Given the description of an element on the screen output the (x, y) to click on. 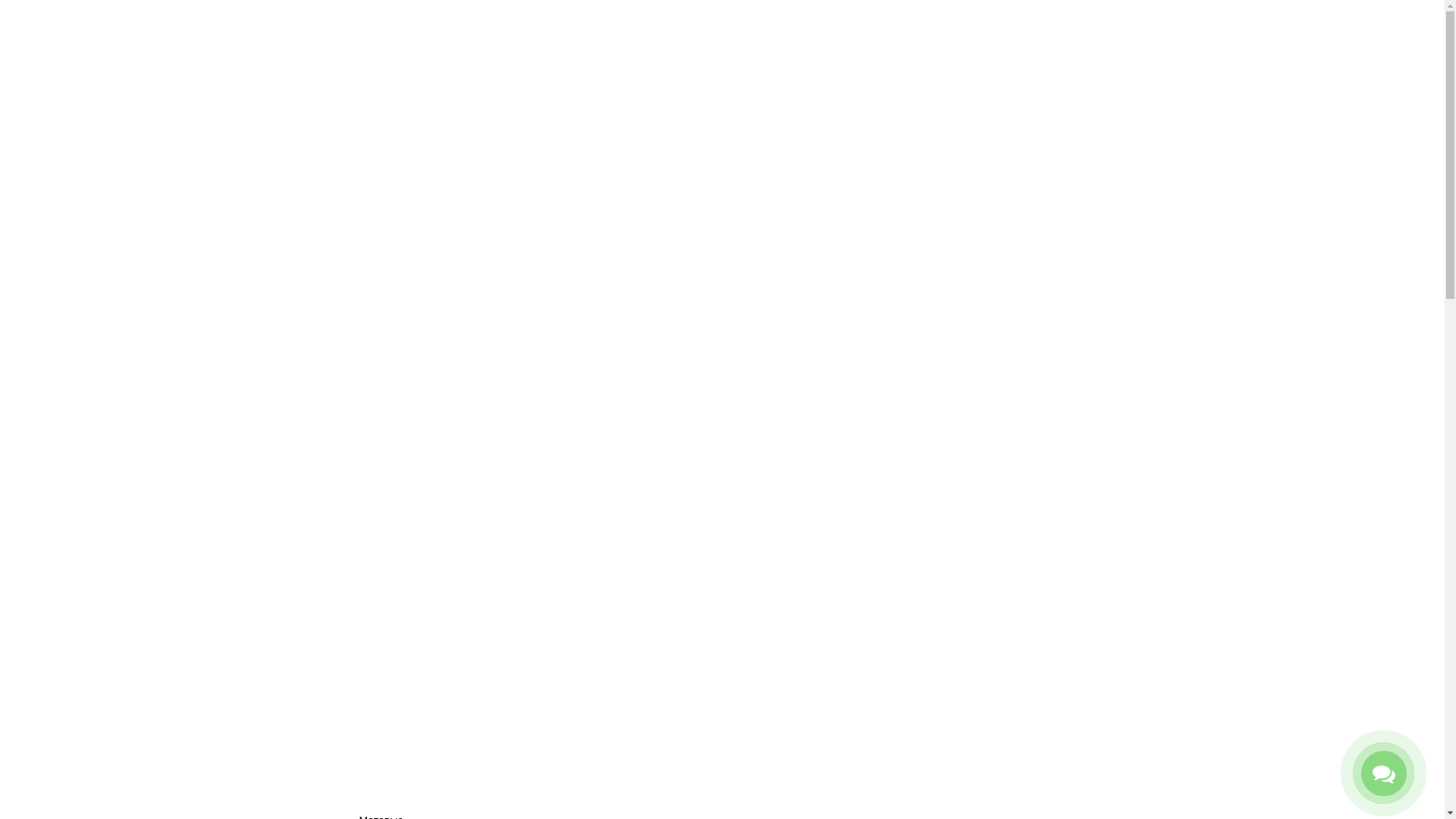
Kastamonu Element type: text (409, 708)
+375 (29) 163-28-32 Element type: text (736, 111)
+375 (44) 530-13-02 Element type: text (736, 90)
Niemann Element type: text (409, 764)
+375 (29) 850-25-03 Element type: text (740, 131)
